Given the description of an element on the screen output the (x, y) to click on. 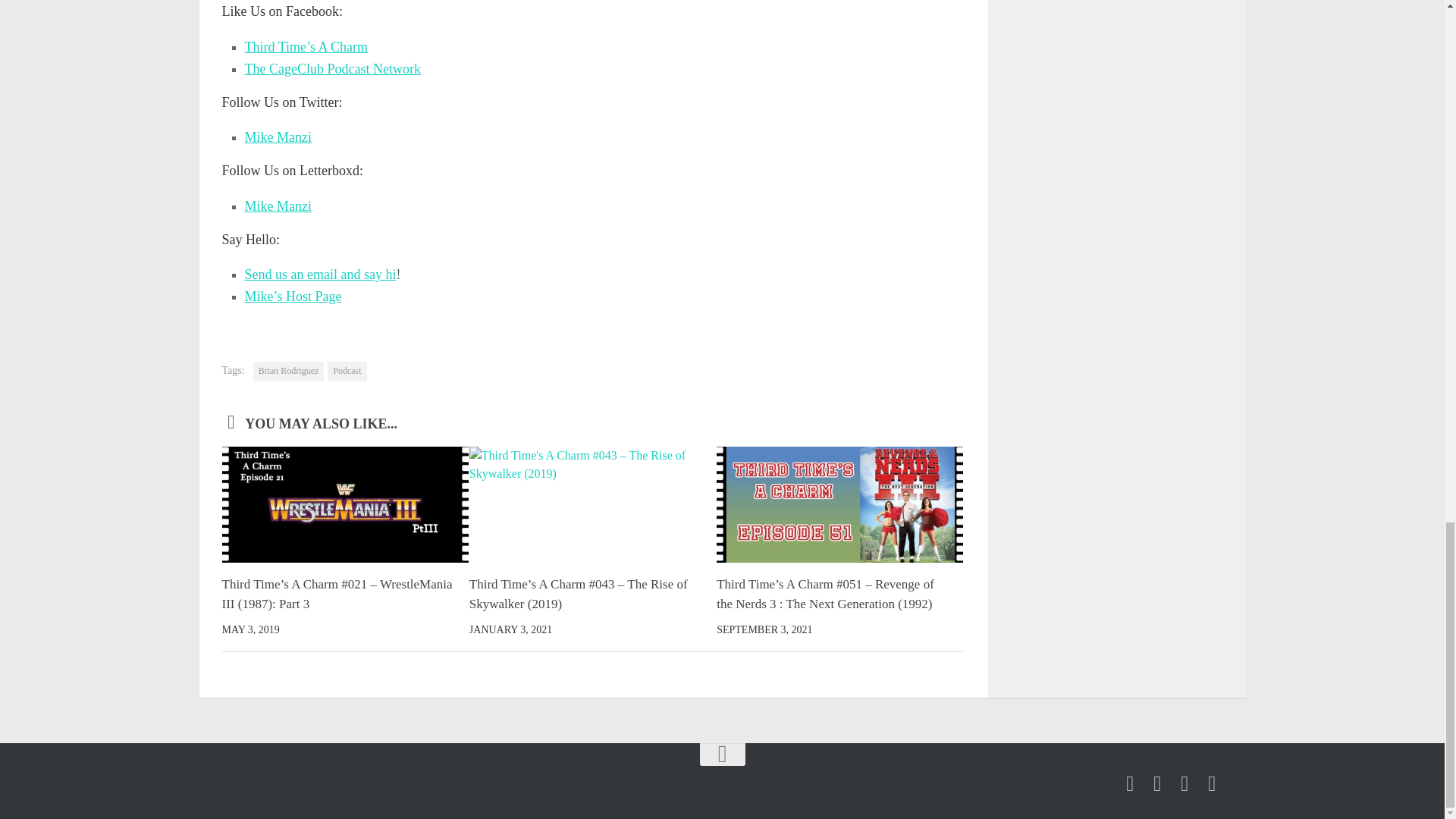
Email the CageClub Podcast Network (1212, 783)
CageClub Podcast Network on Twitter (1157, 783)
CageClub Podcast Network on Facebook (1129, 783)
Follow us on Instagram (1184, 783)
